Given the description of an element on the screen output the (x, y) to click on. 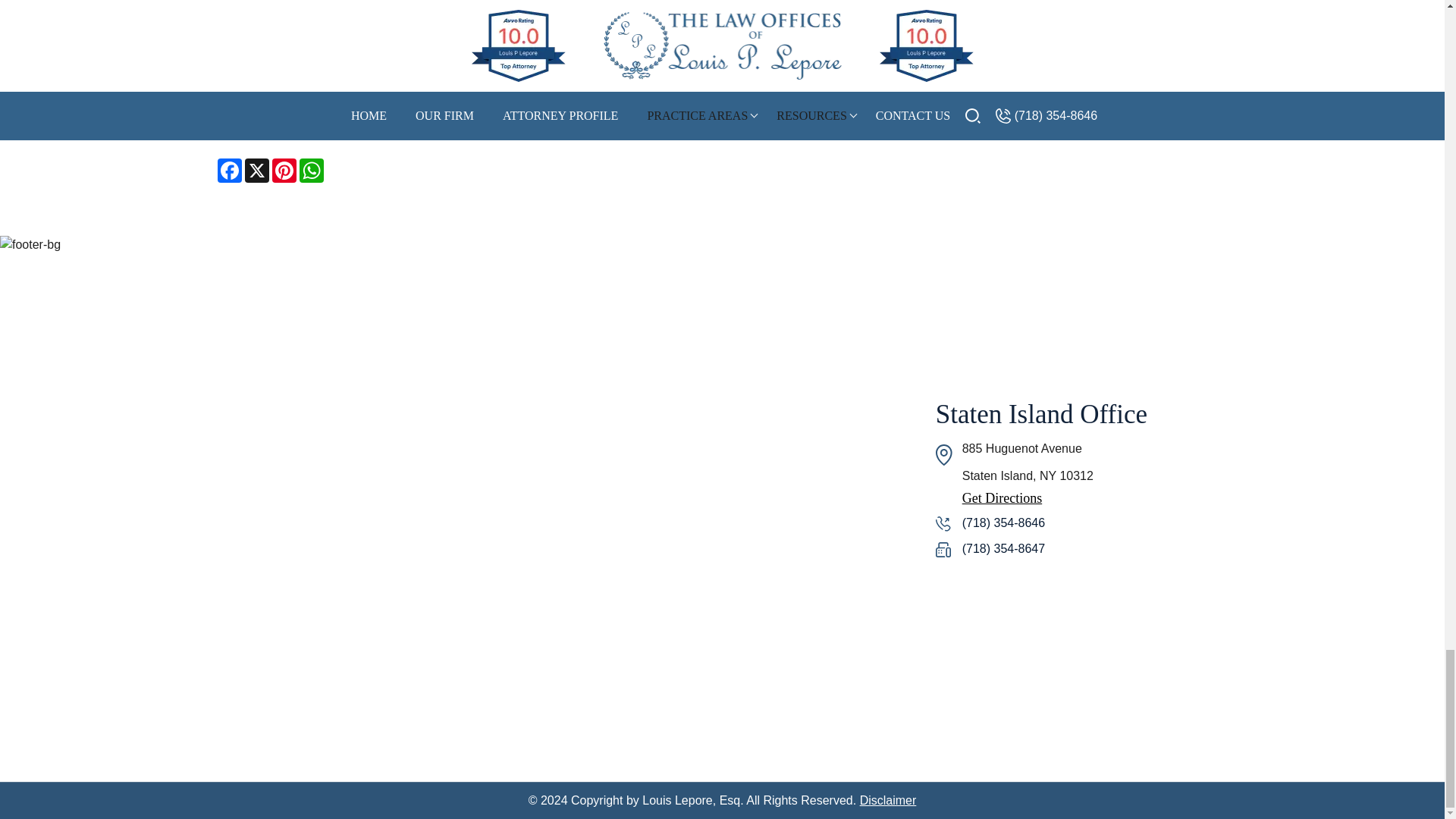
Get Directions (1080, 498)
Pinterest (283, 170)
WhatsApp (310, 170)
X (256, 170)
Facebook (229, 170)
